Given the description of an element on the screen output the (x, y) to click on. 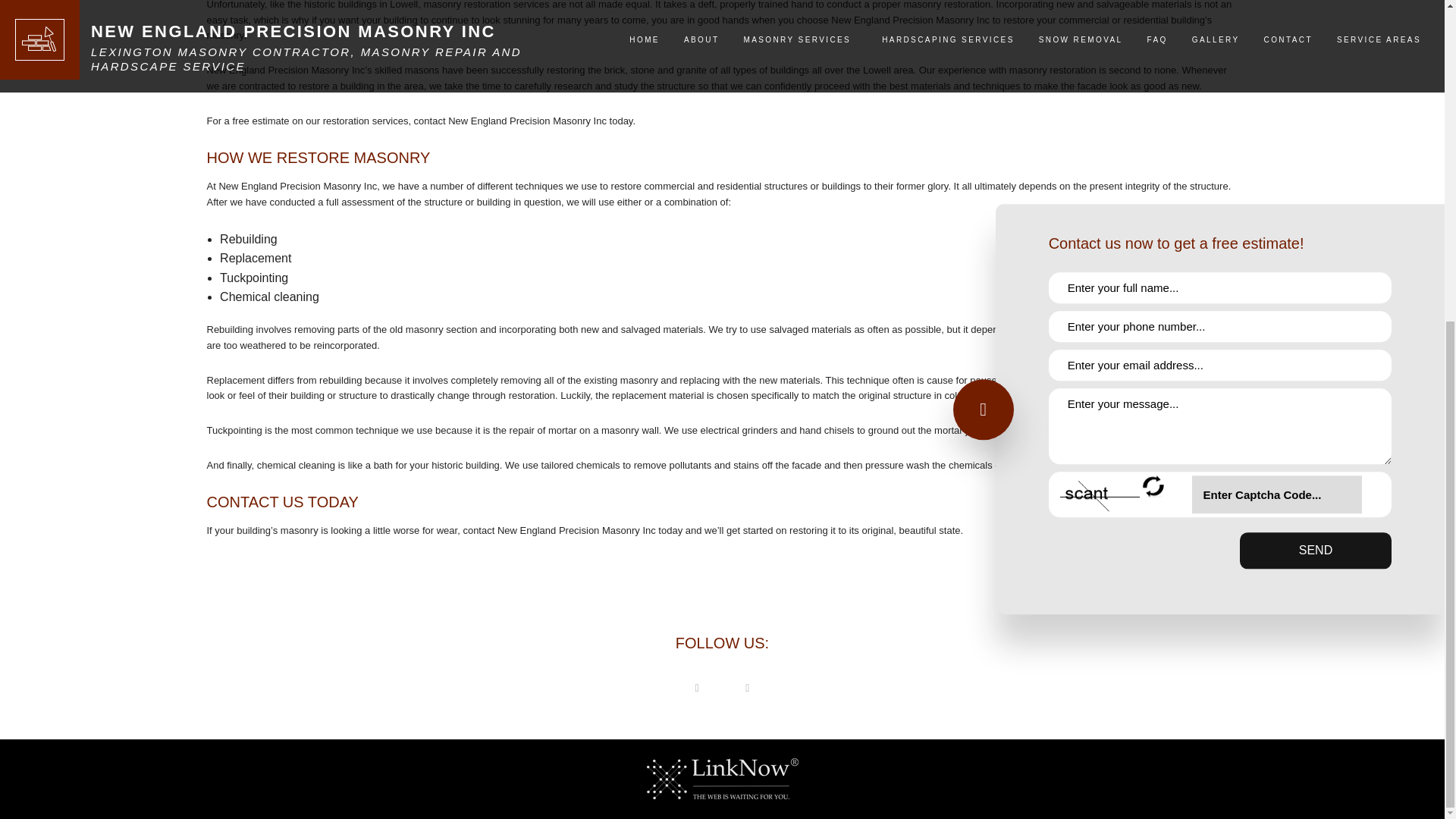
SEND (1315, 28)
New England Precision Masonry Inc's Instagram page (747, 686)
New England Precision Masonry Inc's Facebook page (696, 686)
